Given the description of an element on the screen output the (x, y) to click on. 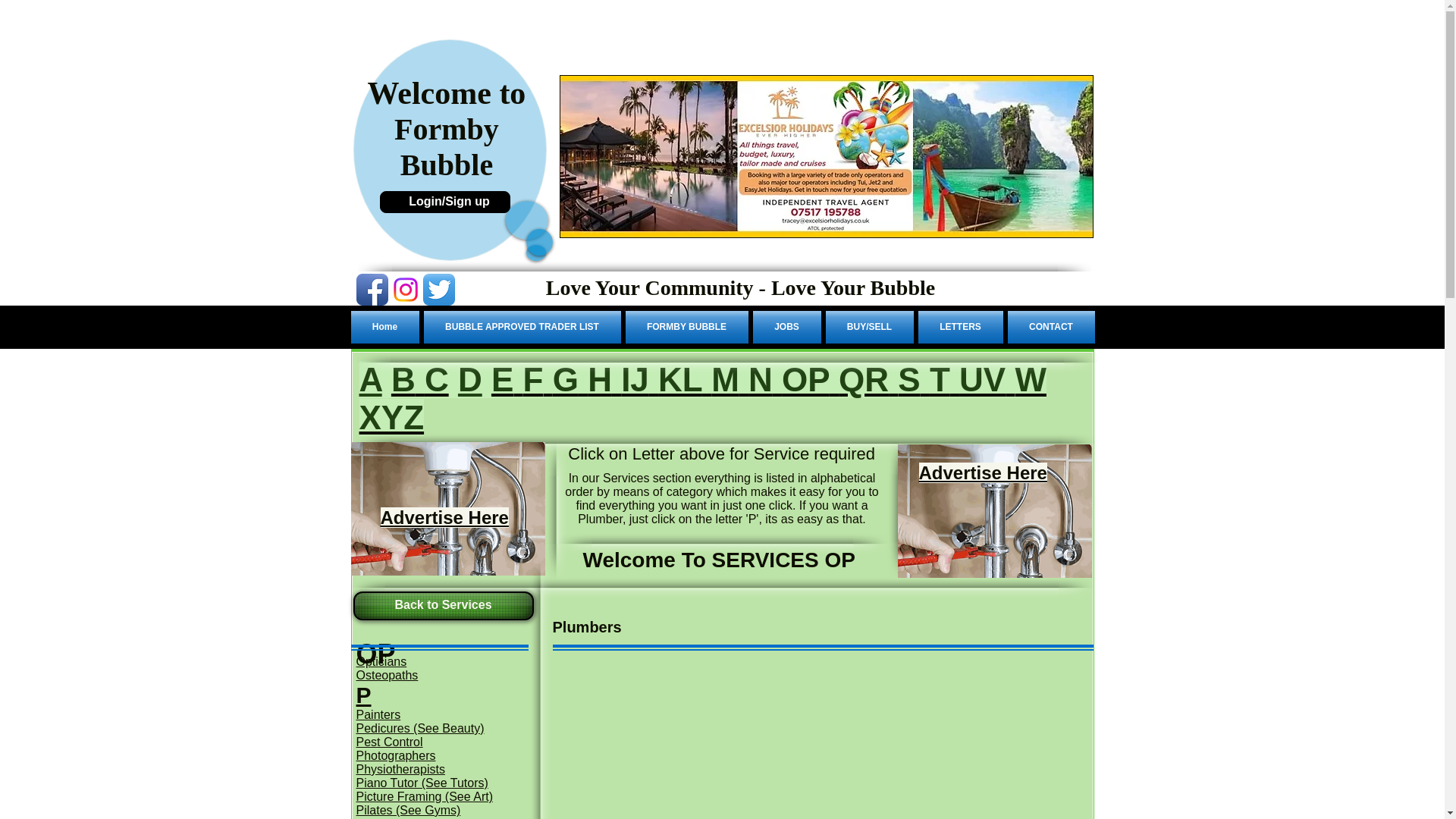
CONTACT (1050, 327)
BUBBLE APPROVED TRADER LIST (522, 327)
LETTERS (960, 327)
Maxiflow-Plumbing-and-Heating-1.png (447, 508)
FORMBY BUBBLE (687, 327)
Home (385, 327)
JOBS (787, 327)
Maxiflow-Plumbing-and-Heating-1.png (995, 511)
